Given the description of an element on the screen output the (x, y) to click on. 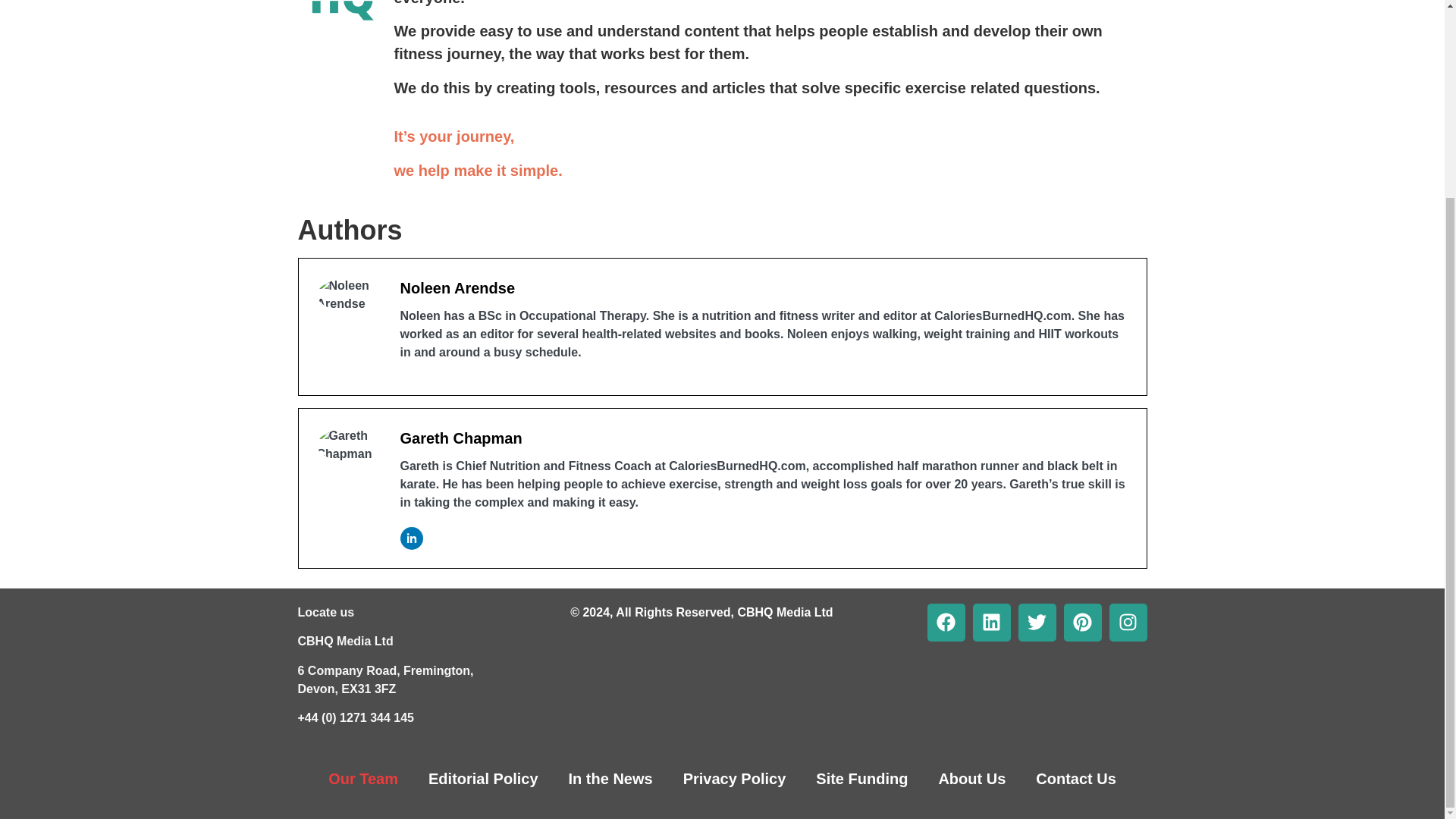
Noleen Arendse (457, 288)
Privacy Policy (735, 778)
Editorial Policy (483, 778)
Gareth Chapman (461, 437)
About Us (971, 778)
Noleen Arendse (457, 288)
Our Team (363, 778)
Site Funding (861, 778)
Contact Us (1075, 778)
In the News (610, 778)
Gareth Chapman (461, 437)
